Given the description of an element on the screen output the (x, y) to click on. 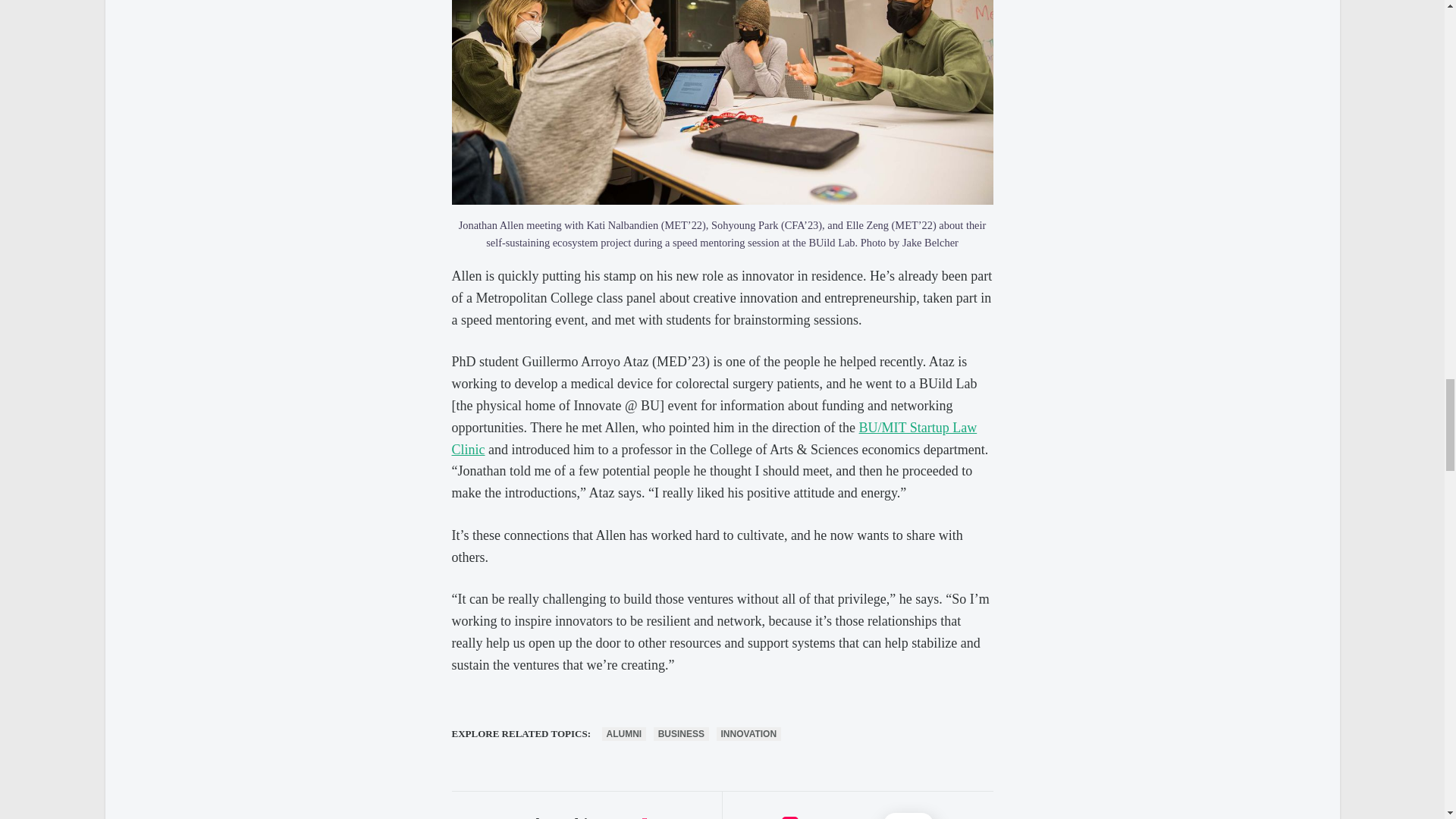
BUSINESS (681, 734)
ALUMNI (624, 734)
ADD (908, 816)
0 (789, 817)
INNOVATION (748, 734)
